Given the description of an element on the screen output the (x, y) to click on. 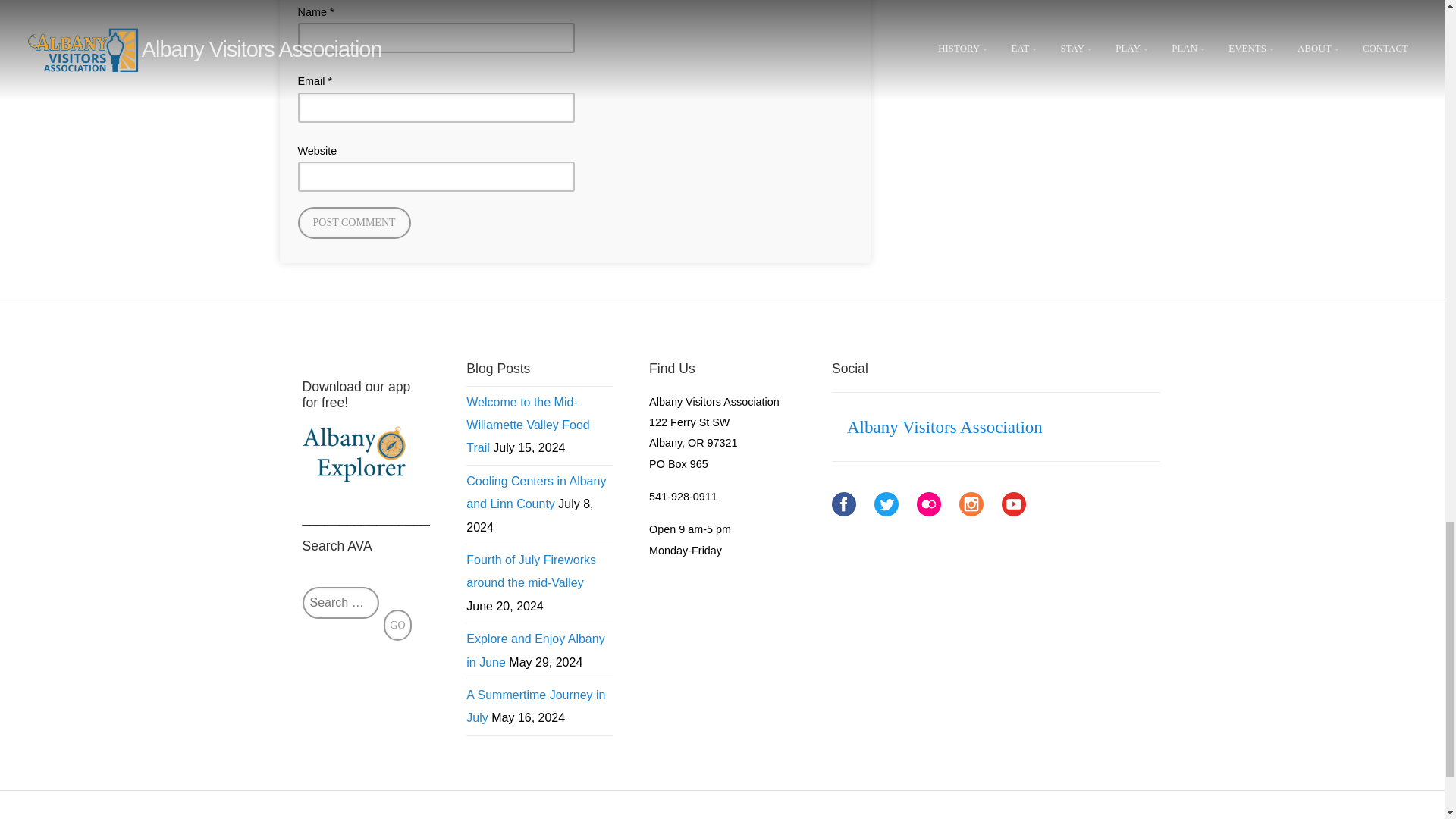
Go (398, 624)
Post Comment (353, 222)
